Given the description of an element on the screen output the (x, y) to click on. 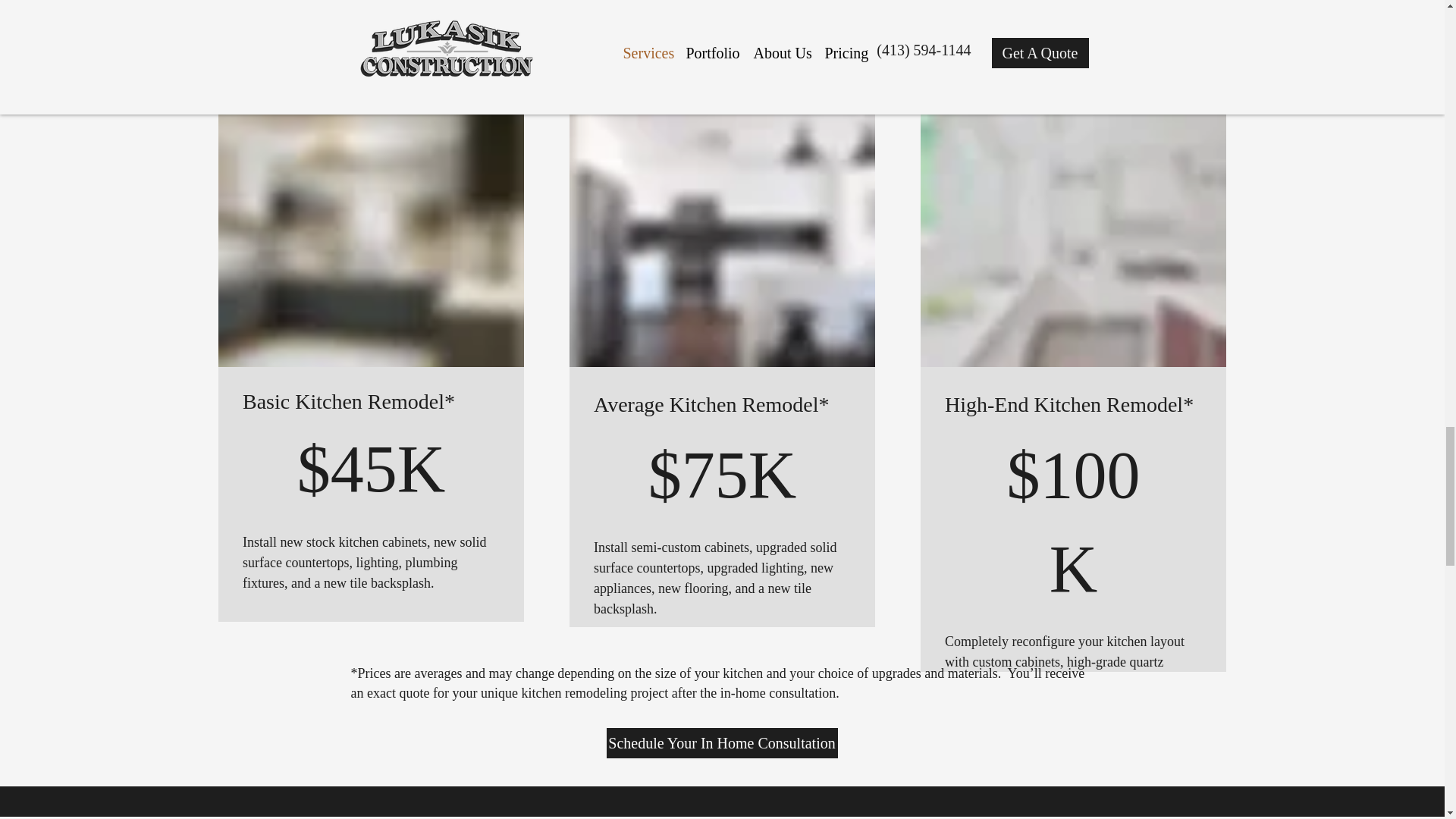
Schedule Your In Home Consultation (722, 743)
